Given the description of an element on the screen output the (x, y) to click on. 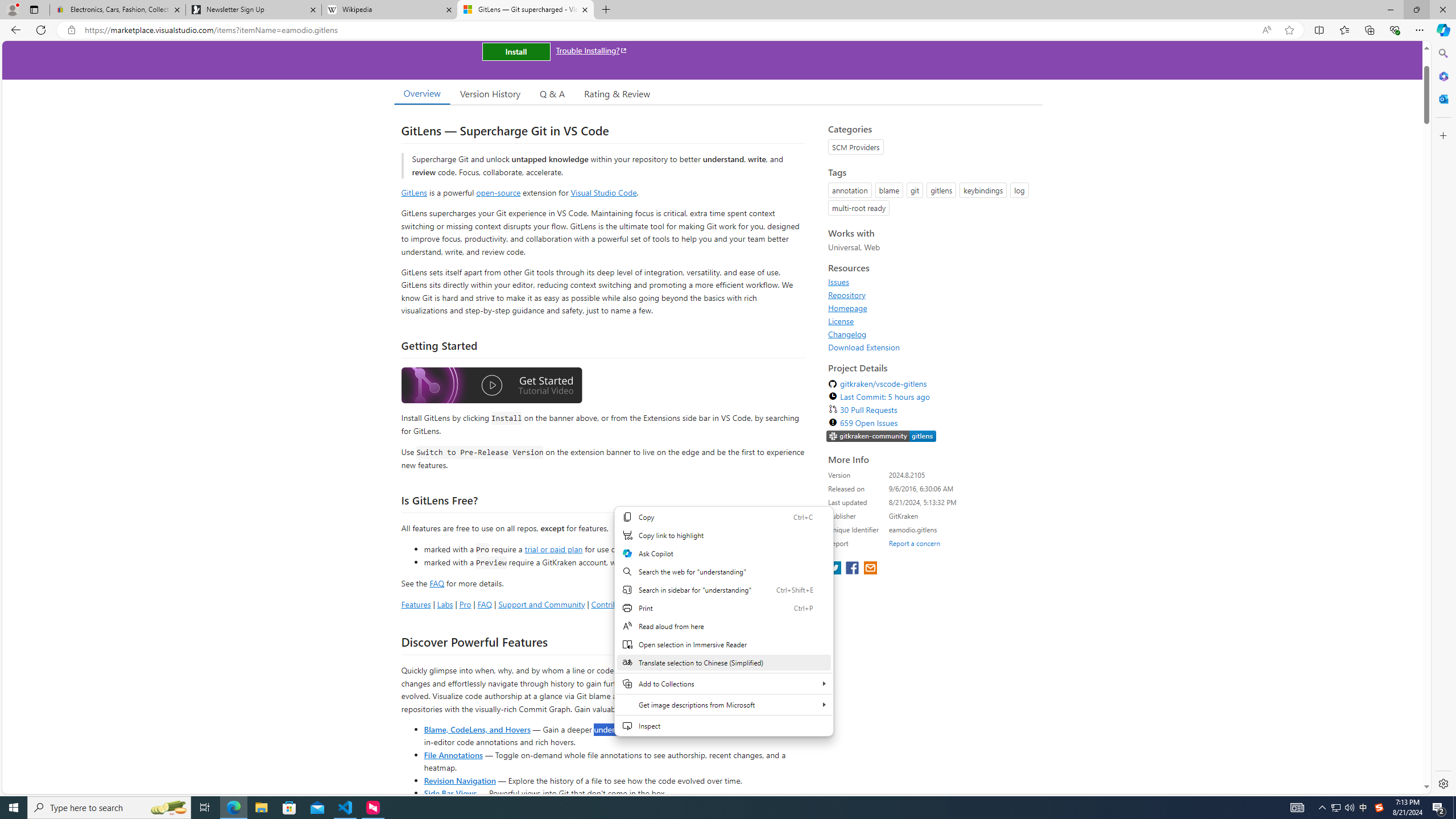
open-source (498, 192)
share extension on facebook (853, 568)
Open selection in Immersive Reader (723, 644)
Copy (723, 516)
License (840, 320)
Read aloud from here (723, 625)
